Given the description of an element on the screen output the (x, y) to click on. 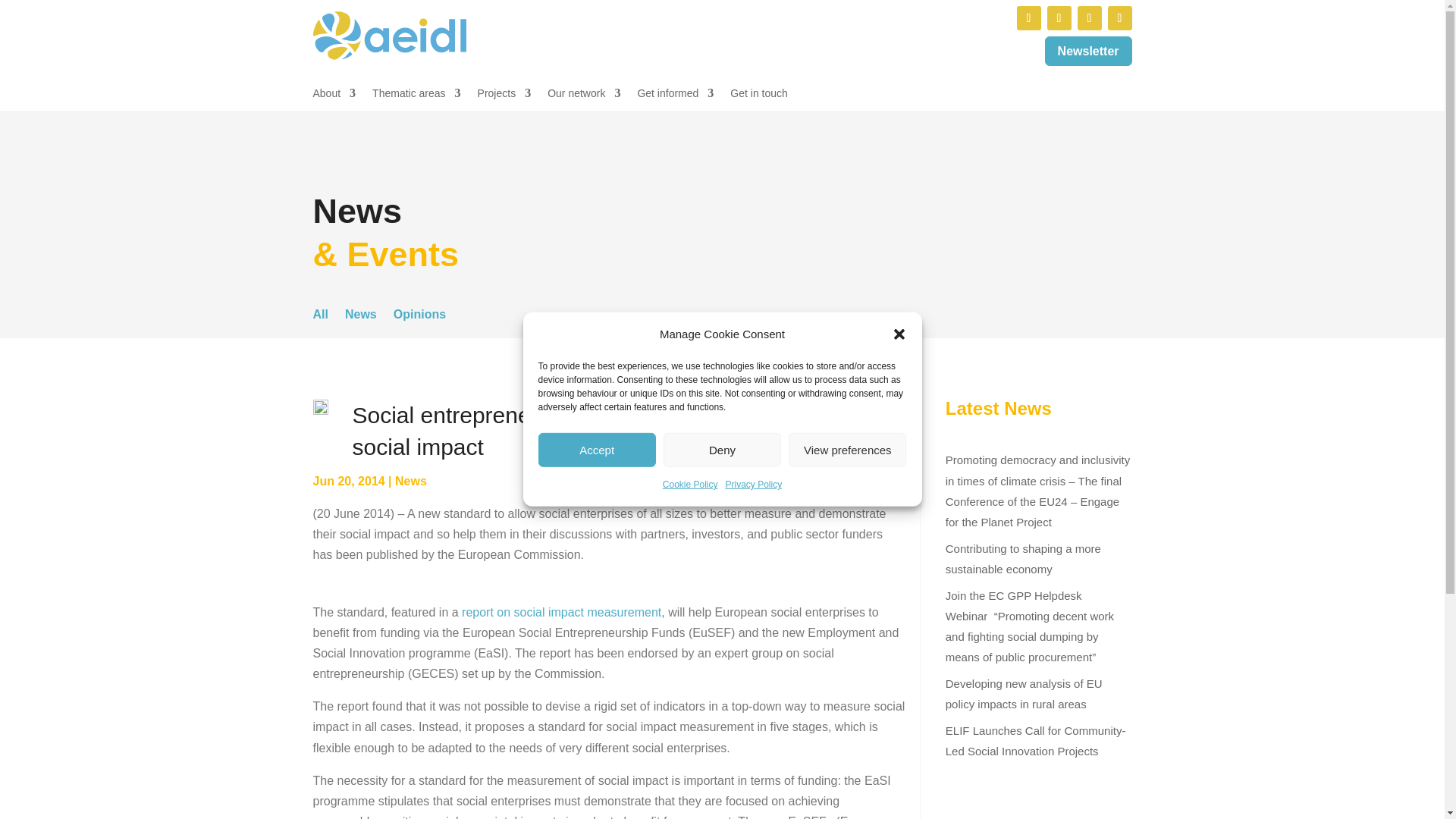
Our network (583, 95)
Privacy Policy (753, 485)
Follow on X (1058, 17)
Projects (504, 95)
Cookie Policy (689, 485)
arbre (320, 407)
Follow on Flickr (1118, 17)
Deny (721, 449)
Follow on Facebook (1088, 17)
About (334, 95)
Follow on LinkedIn (1028, 17)
View preferences (847, 449)
Accept (597, 449)
Newsletter (1088, 51)
Thematic areas (416, 95)
